Given the description of an element on the screen output the (x, y) to click on. 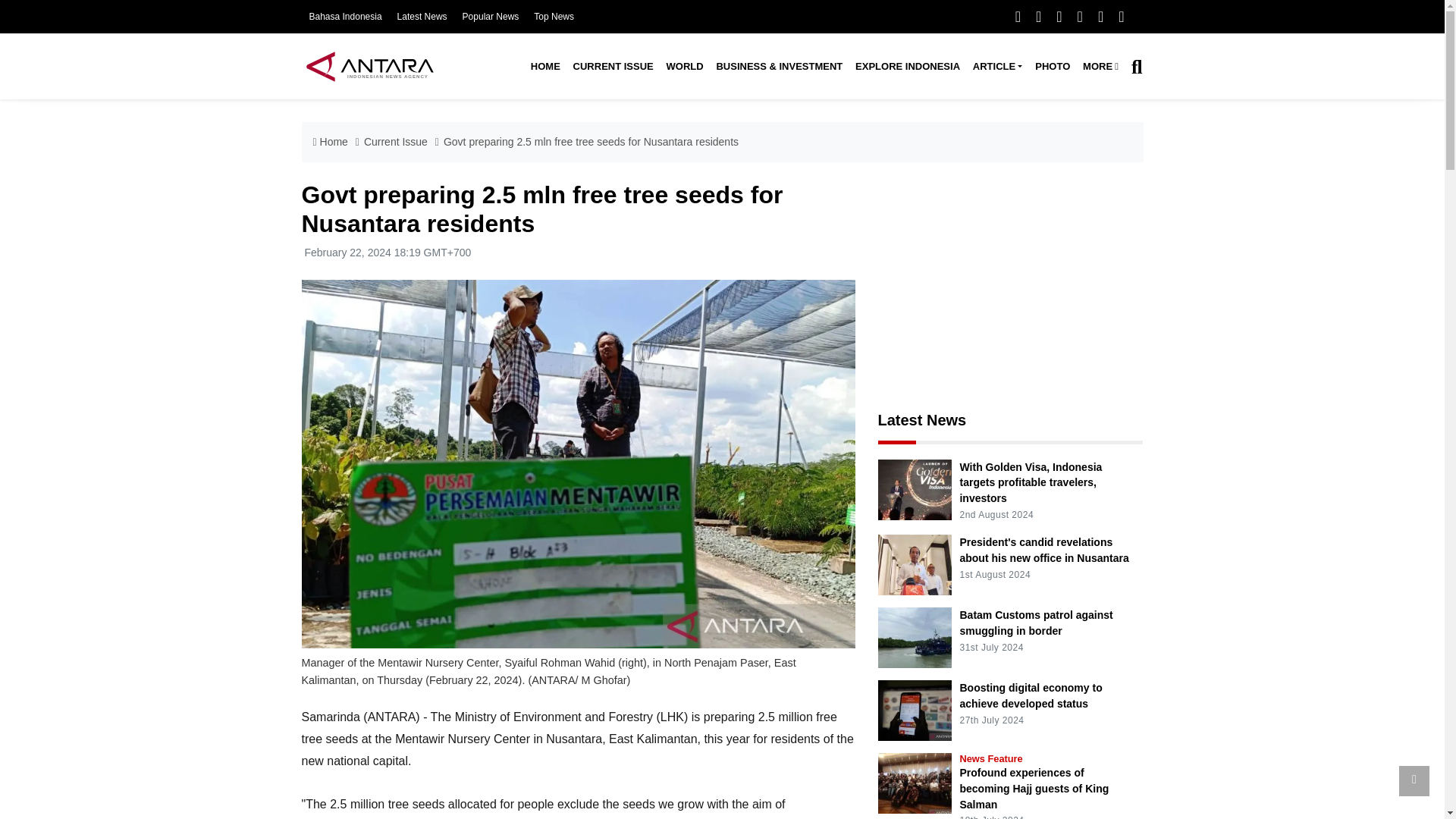
ARTICLE (996, 66)
Current Issue (612, 66)
CURRENT ISSUE (612, 66)
Popular News (491, 16)
Top News (553, 16)
Bahasa Indonesia (344, 16)
Article (996, 66)
Explore Indonesia (907, 66)
Latest News (421, 16)
Bahasa Indonesia (344, 16)
Top News (553, 16)
Popular News (491, 16)
ANTARA News (369, 66)
Latest News (421, 16)
